Given the description of an element on the screen output the (x, y) to click on. 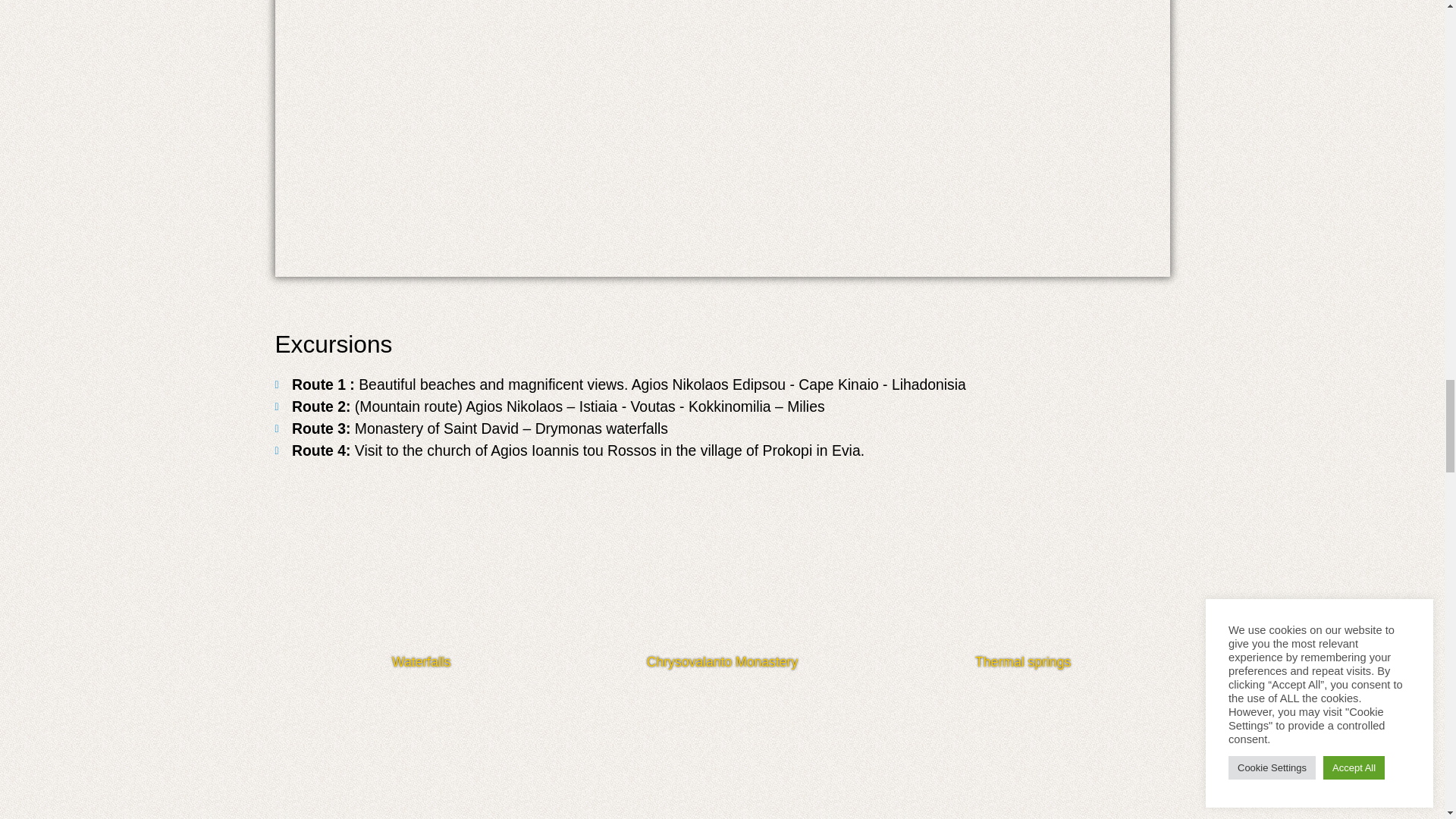
Thermal springs (1023, 575)
Chrysovalanto Monastery (722, 575)
Waterfalls (421, 575)
